Given the description of an element on the screen output the (x, y) to click on. 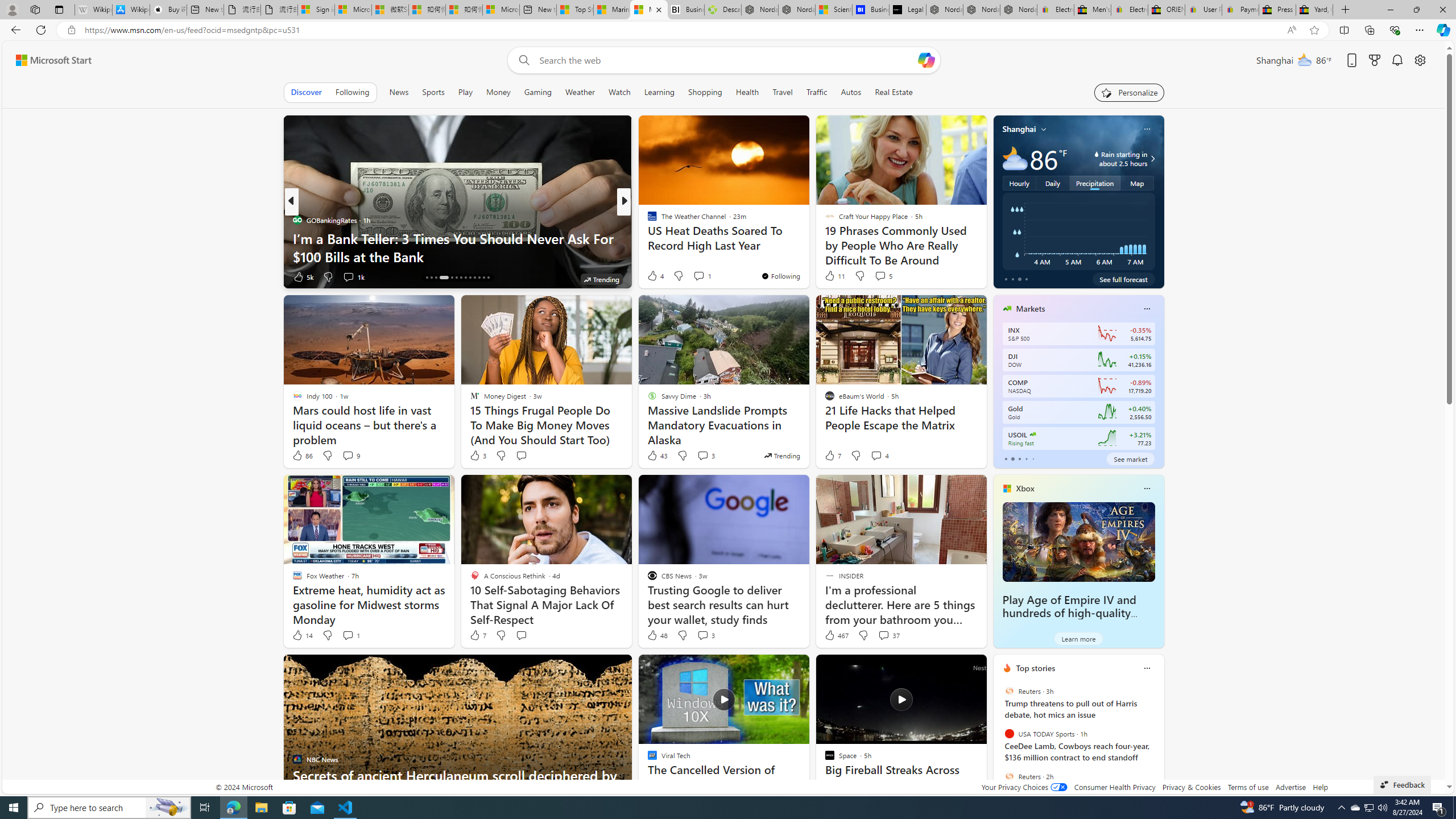
Autos (850, 92)
Consumer Health Privacy (1115, 786)
Travel (782, 92)
Open settings (1420, 60)
123 Like (654, 276)
Dislike (863, 634)
Microsoft account | Account Checkup (500, 9)
38 Like (652, 276)
Feedback (1402, 784)
Real Estate (893, 92)
Warship sinks after crash with unknown object (807, 256)
Descarga Driver Updater (721, 9)
